Given the description of an element on the screen output the (x, y) to click on. 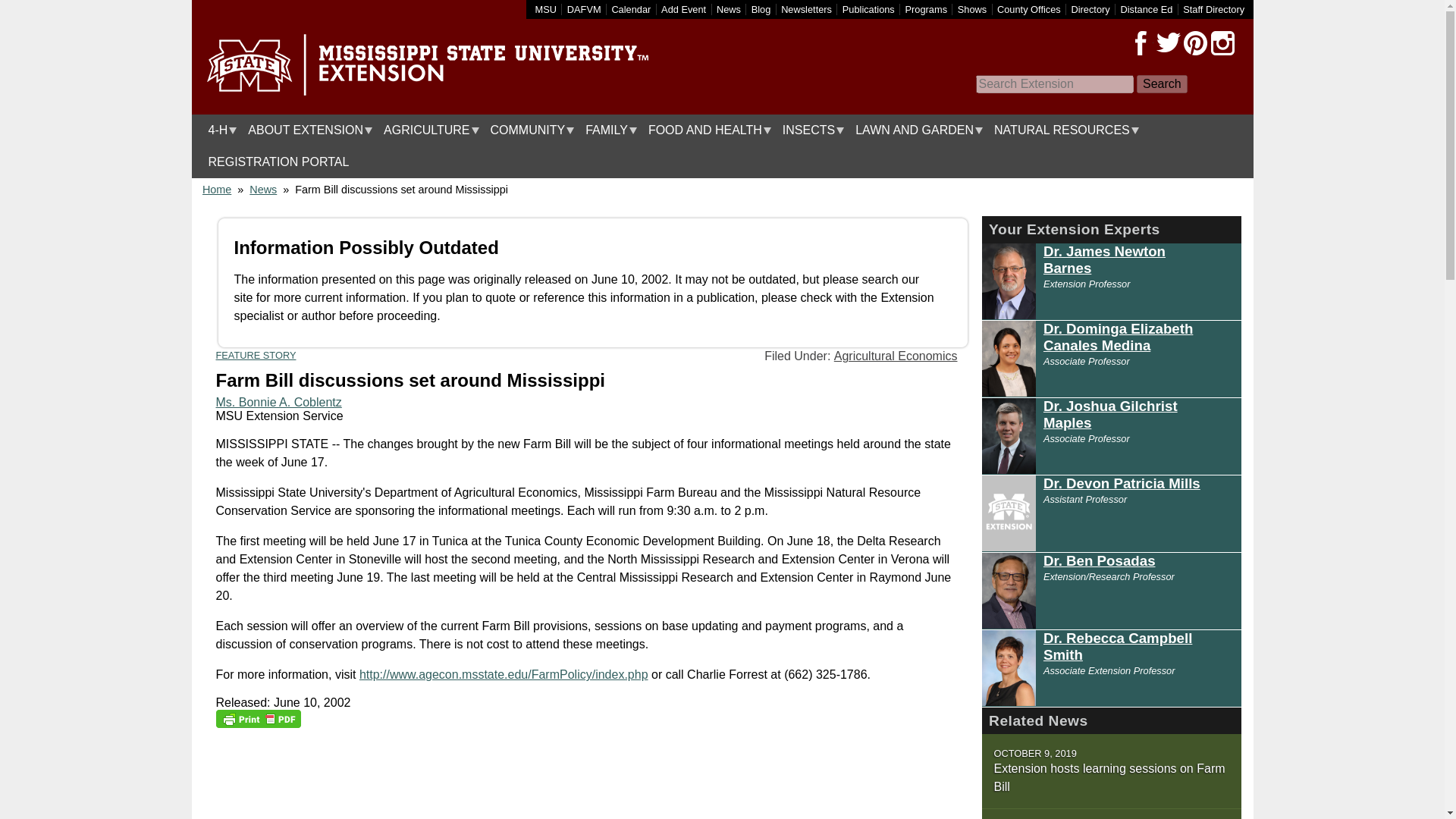
Directory (1089, 9)
Calendar (630, 9)
Facebook (1140, 43)
Blog (761, 9)
Twitter (1167, 43)
Find a county extension office (1029, 9)
Shows (972, 9)
County Offices (1029, 9)
